Given the description of an element on the screen output the (x, y) to click on. 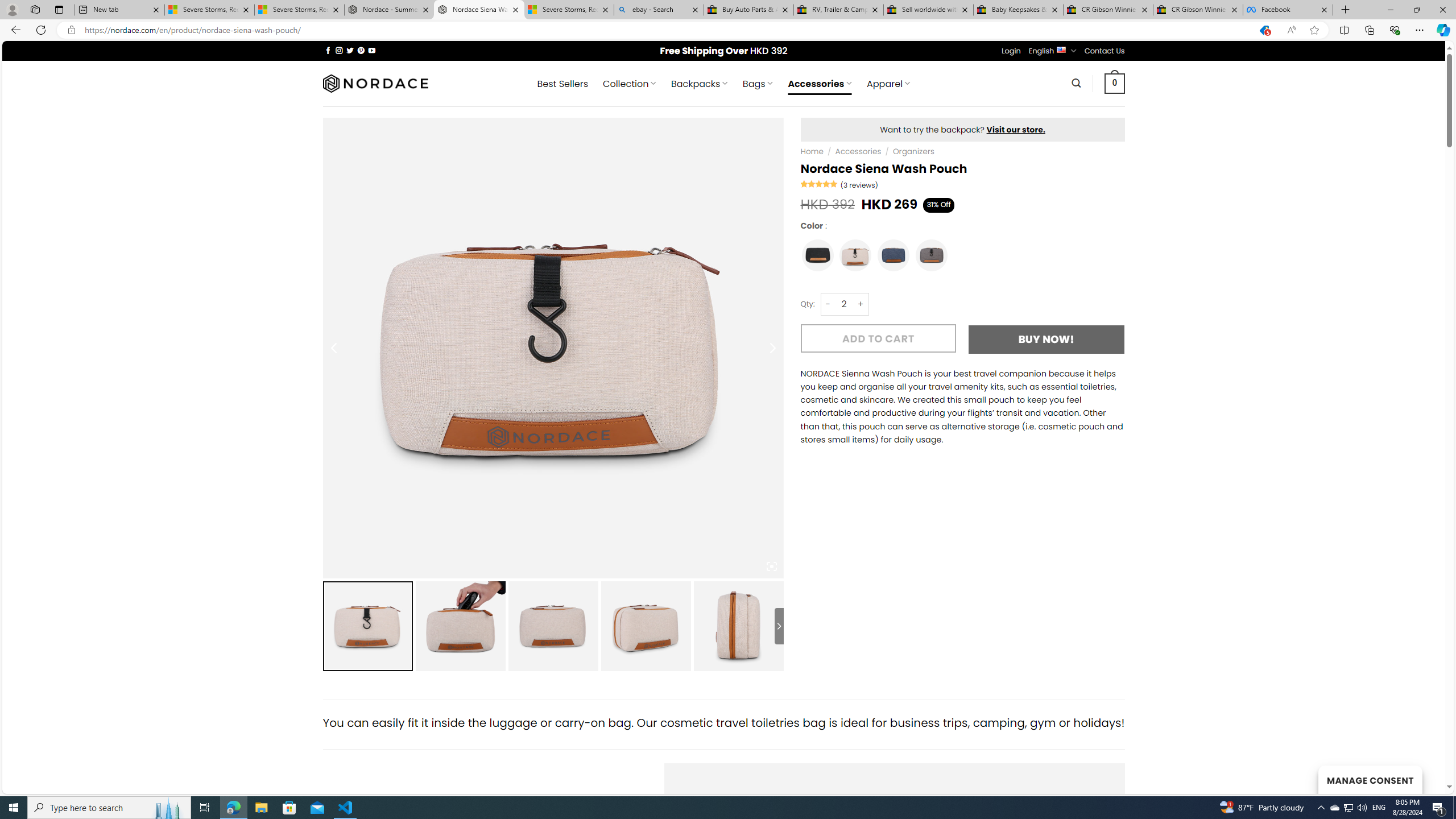
Login (1010, 50)
Copilot (Ctrl+Shift+.) (1442, 29)
Tab actions menu (58, 9)
Follow on YouTube (371, 49)
View site information (70, 29)
Minimize (1390, 9)
Nordace (374, 83)
Organizers (913, 151)
Collections (1369, 29)
Search (1076, 83)
Workspaces (34, 9)
Nordace Siena Wash Pouch (738, 625)
